Given the description of an element on the screen output the (x, y) to click on. 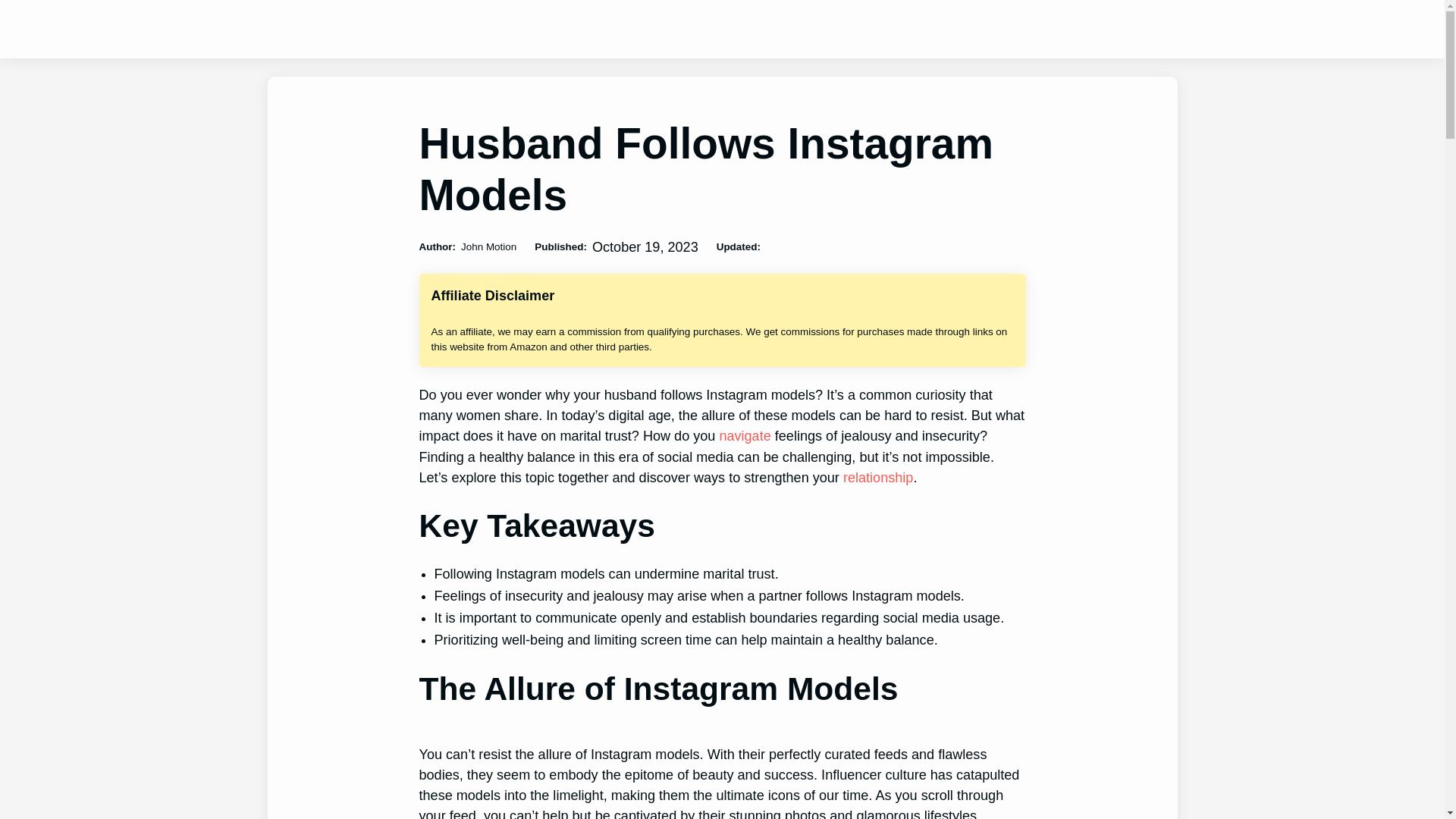
navigate (744, 435)
relationship (877, 477)
navigate (744, 435)
relationship (877, 477)
